Given the description of an element on the screen output the (x, y) to click on. 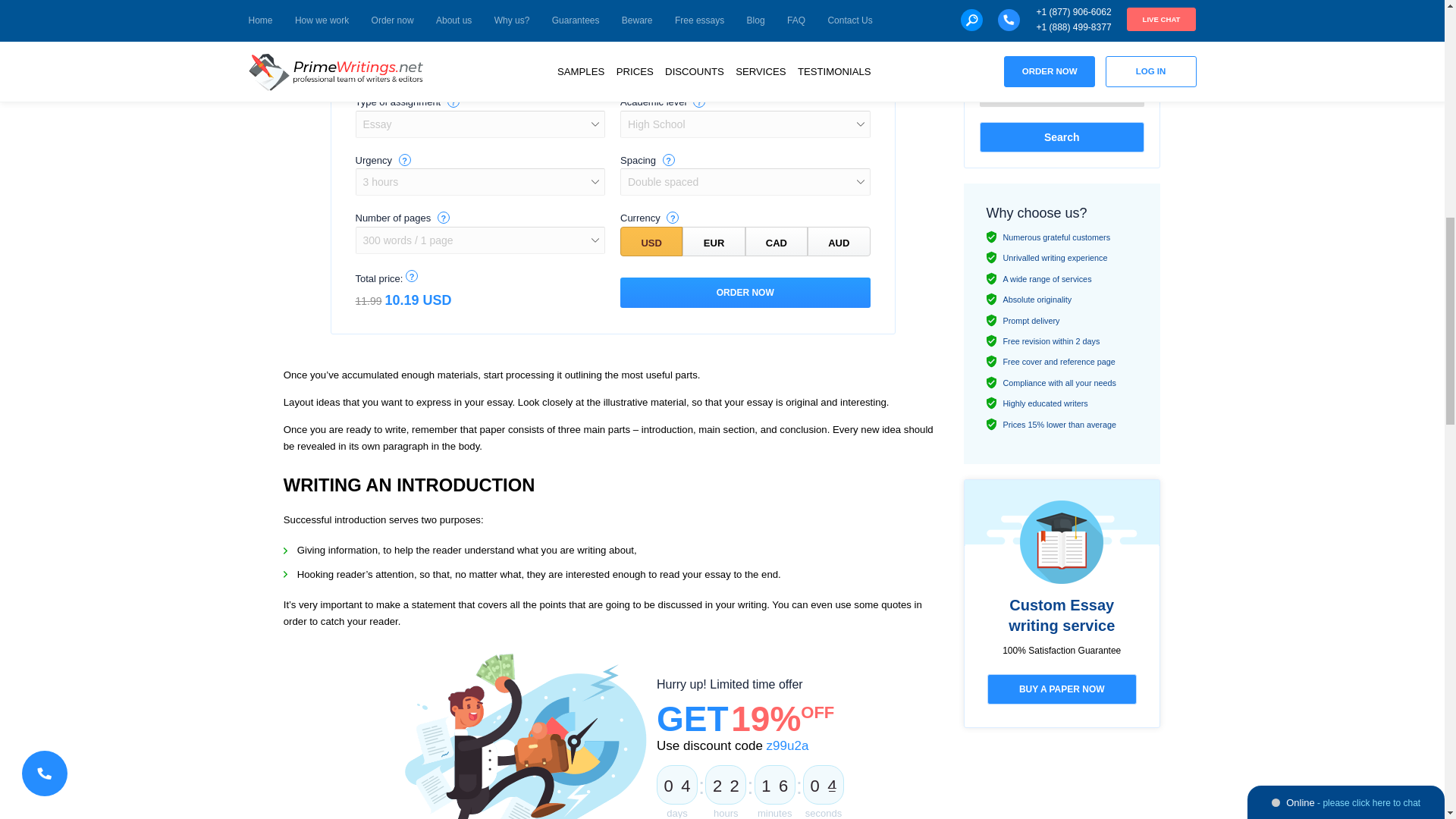
AUD (838, 241)
USD (651, 241)
CAD (776, 241)
EUR (713, 241)
Search (1061, 137)
Order now (745, 292)
